Given the description of an element on the screen output the (x, y) to click on. 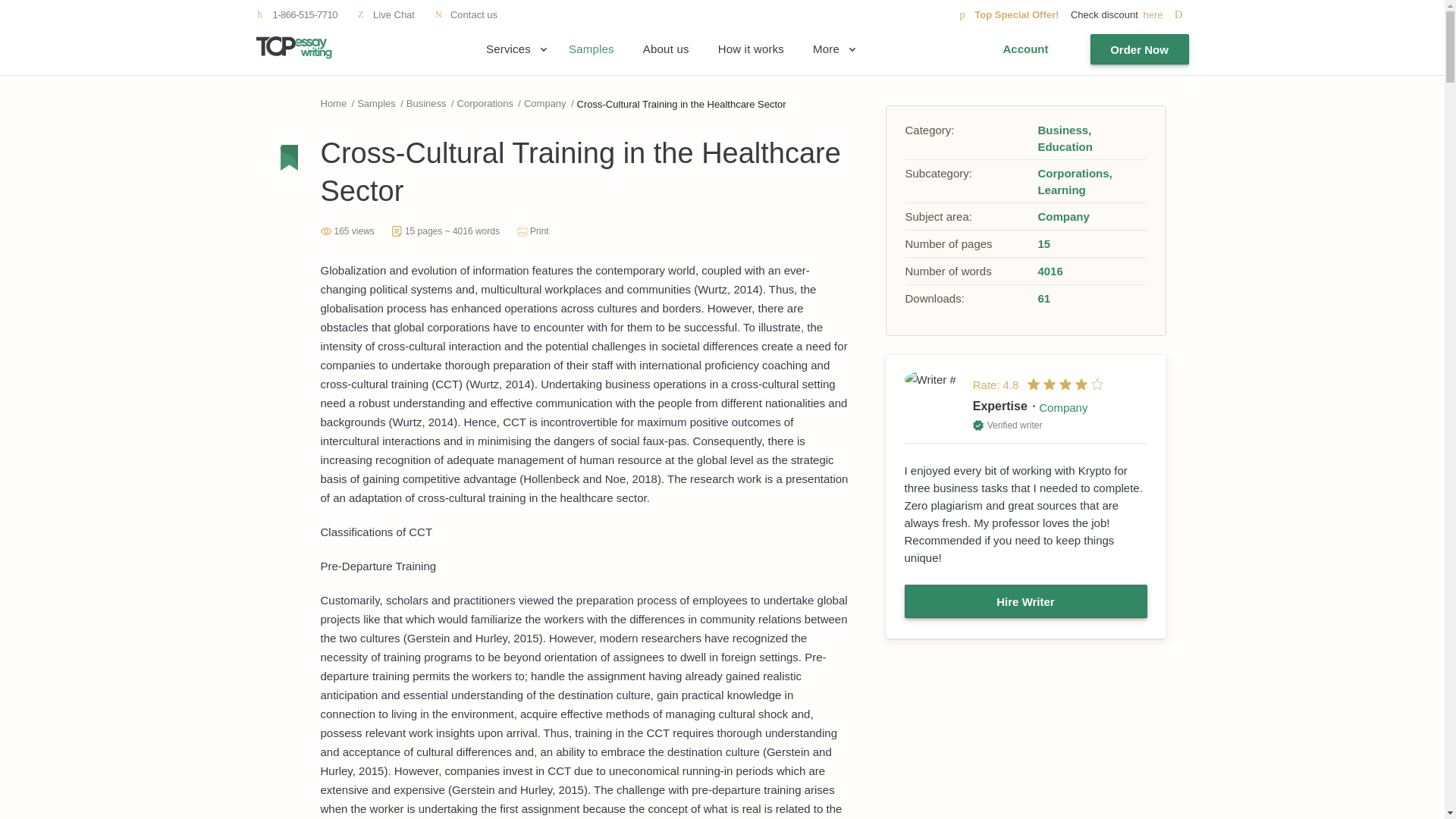
Samples (591, 49)
here (1165, 14)
Print (532, 231)
Home (333, 102)
About us (665, 49)
Contact us (465, 14)
Account (1025, 49)
1-866-515-7710 (296, 14)
How it works (750, 49)
Business (426, 102)
